Given the description of an element on the screen output the (x, y) to click on. 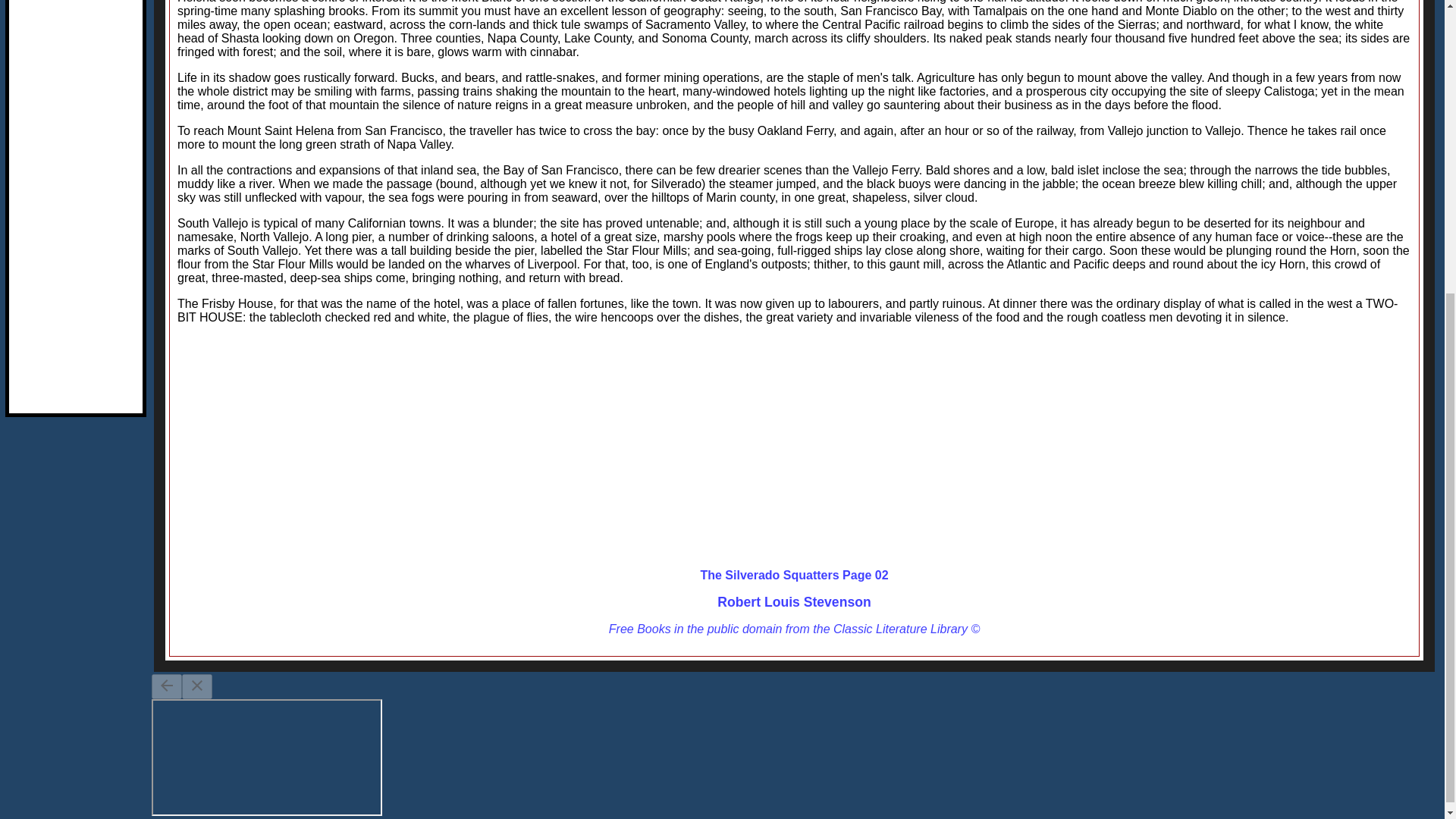
The Silverado Squatters Page 02 (794, 574)
Robert Louis Stevenson (793, 601)
